Given the description of an element on the screen output the (x, y) to click on. 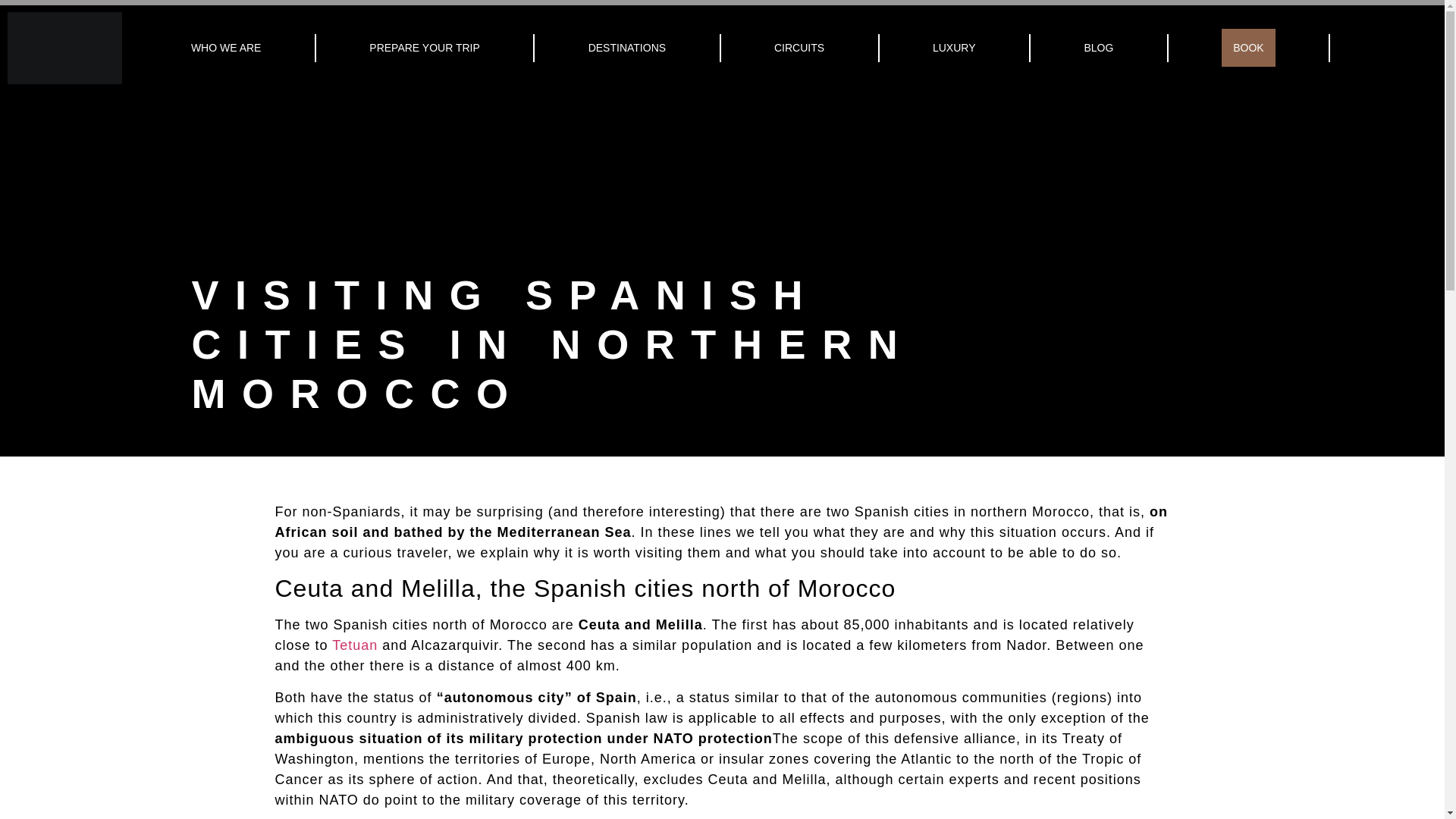
DESTINATIONS (626, 47)
PREPARE YOUR TRIP (423, 47)
WHO WE ARE (225, 47)
